Given the description of an element on the screen output the (x, y) to click on. 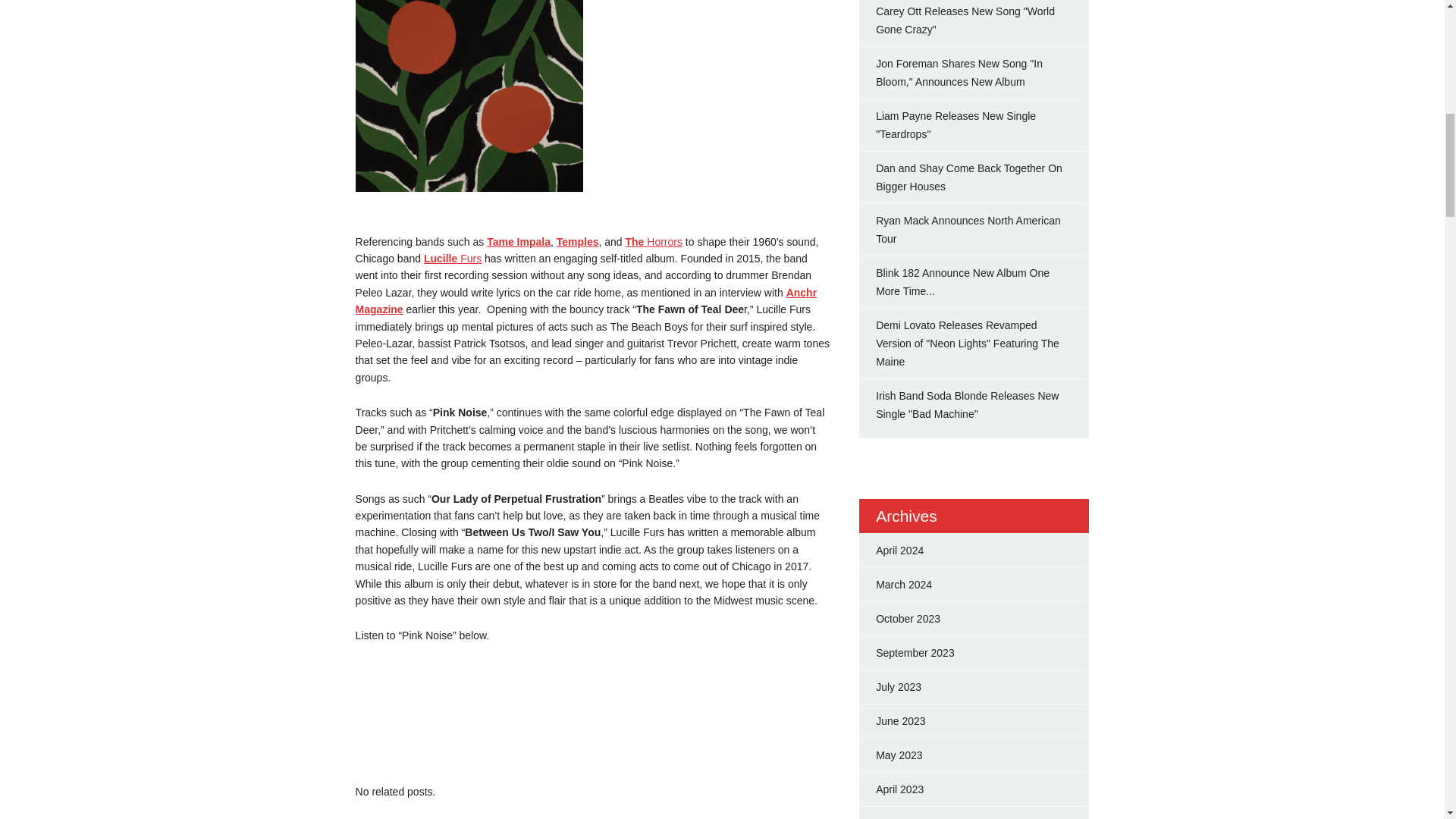
Blink 182 Announce New Album One More Time... (962, 281)
Dan and Shay Come Back Together On Bigger Houses (969, 177)
Ryan Mack Announces North American Tour (968, 229)
The Horrors (654, 241)
Tame Impala (518, 241)
Look Ryan Mack Announces North American Tour (968, 229)
Carey Ott Releases New Song "World Gone Crazy" (965, 20)
Look Liam Payne Releases New Single "Teardrops" (955, 124)
Jon Foreman Shares New Song "In Bloom," Announces New Album (959, 72)
Lucille Furs (452, 258)
Look Dan and Shay Come Back Together On Bigger Houses (969, 177)
Liam Payne Releases New Single "Teardrops" (955, 124)
Temples (577, 241)
Look Blink 182 Announce New Album One More Time... (962, 281)
